Given the description of an element on the screen output the (x, y) to click on. 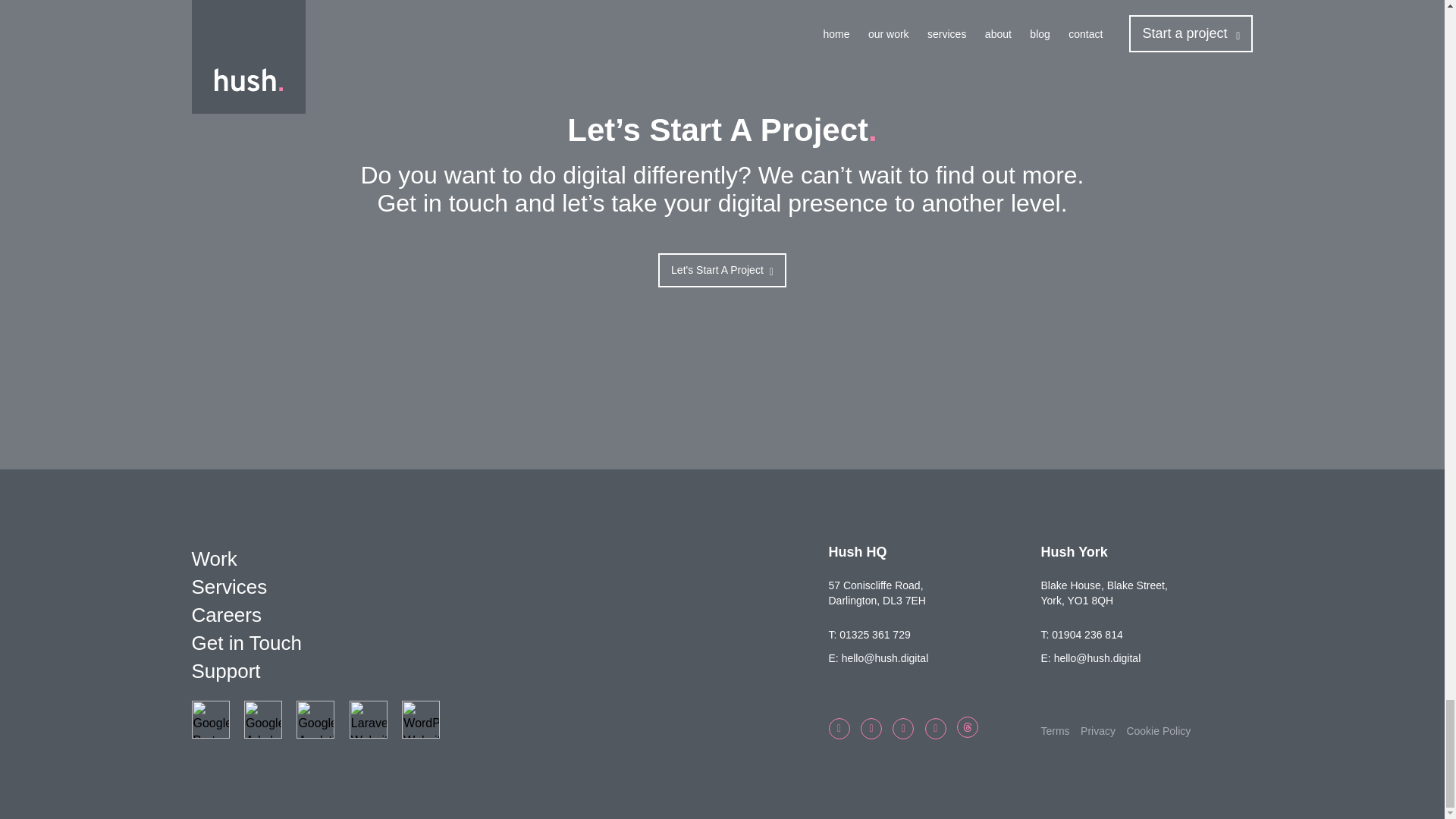
01325 361 729 (875, 634)
Let's Start A Project (722, 270)
Privacy (1097, 730)
Services (509, 587)
01904 236 814 (1086, 634)
Instagram (935, 728)
Hush HQ (857, 551)
Hush York (1073, 551)
Terms (1054, 730)
Work (509, 559)
Threads (967, 726)
Get in Touch (509, 643)
linkedIn (903, 728)
Careers (509, 615)
Cookie Policy (1158, 730)
